Given the description of an element on the screen output the (x, y) to click on. 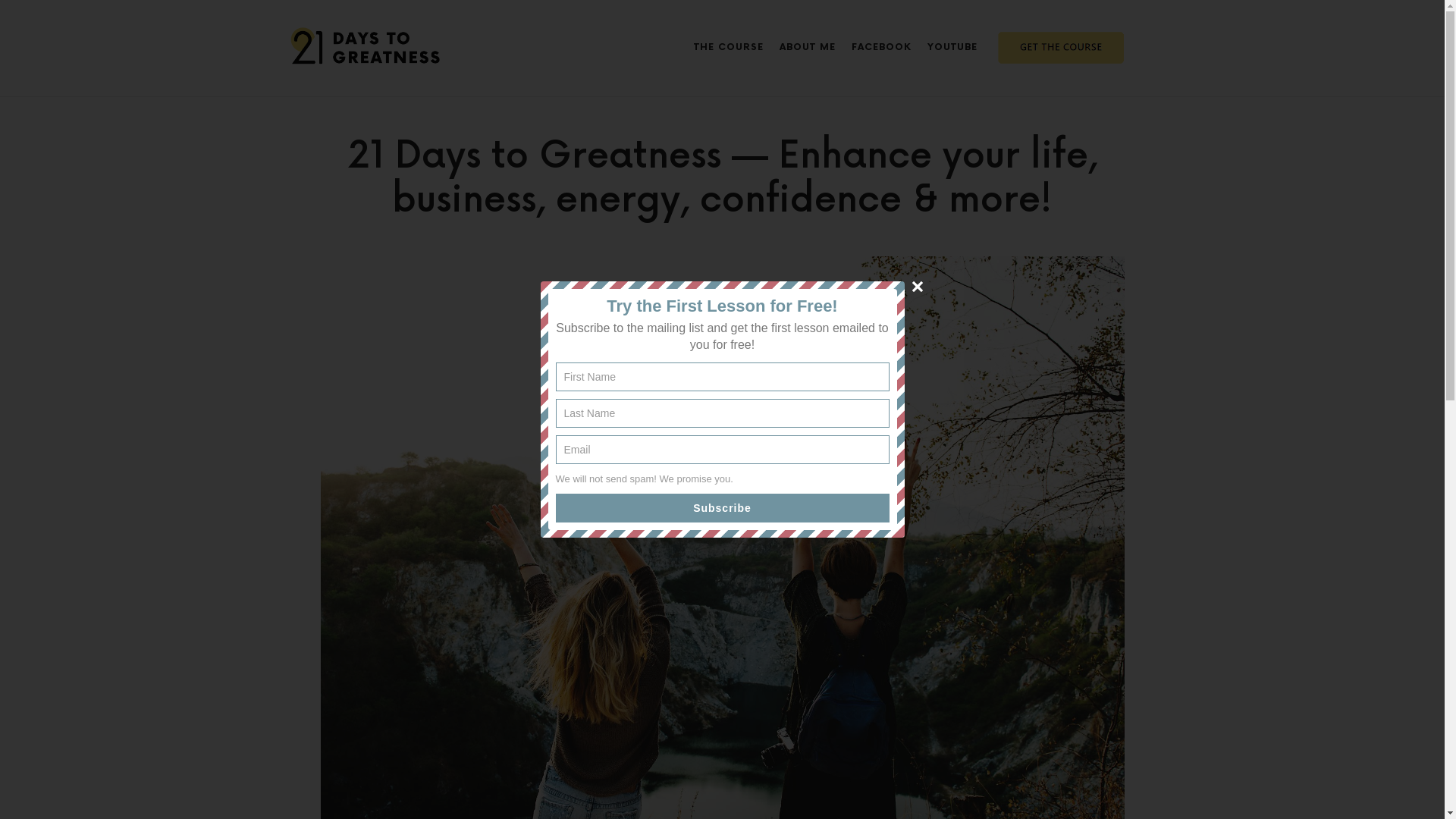
ABOUT ME Element type: text (807, 47)
FACEBOOK Element type: text (880, 47)
THE COURSE Element type: text (727, 47)
YOUTUBE Element type: text (951, 47)
Subscribe Element type: text (721, 507)
